Given the description of an element on the screen output the (x, y) to click on. 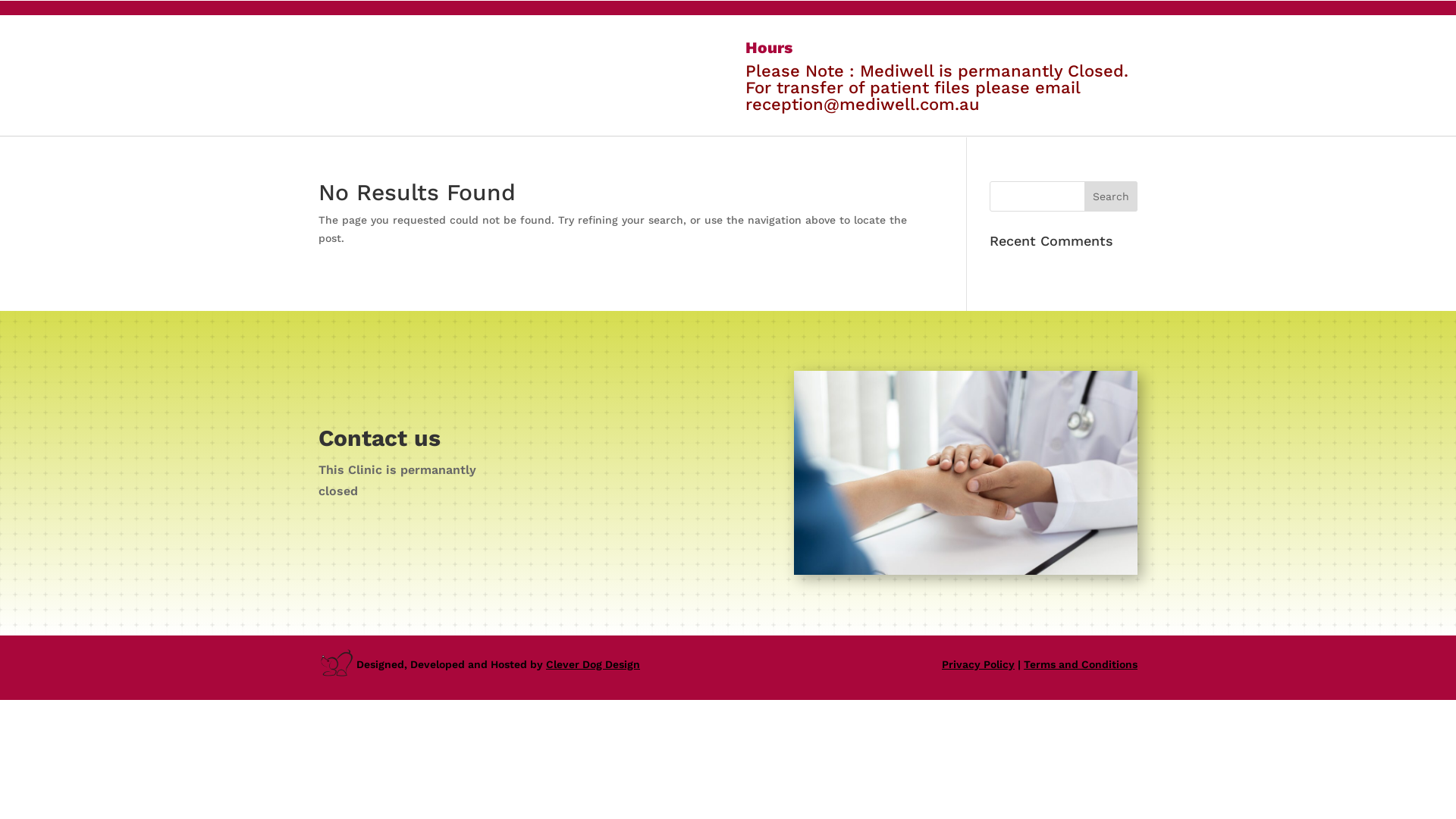
Privacy Policy Element type: text (977, 664)
Dog-only-Bloody-Small Element type: hover (336, 662)
Search Element type: text (1110, 196)
Clever Dog Design Element type: text (593, 664)
medical-treatment-BCEPQ75 Element type: hover (965, 472)
Terms and Conditions Element type: text (1080, 664)
